Given the description of an element on the screen output the (x, y) to click on. 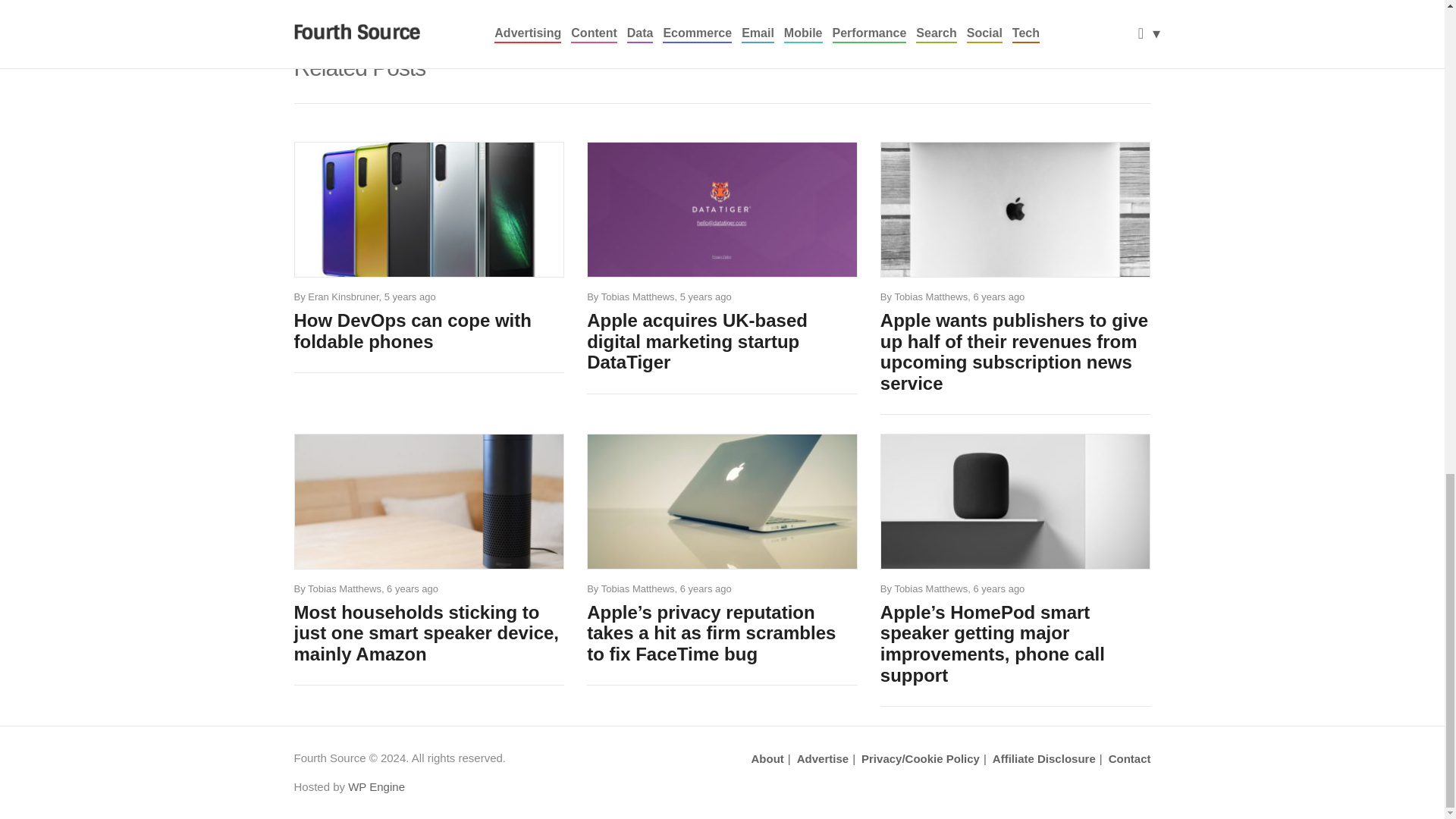
Advertise (816, 759)
About (767, 759)
Apple acquires UK-based digital marketing startup DataTiger (721, 341)
Affiliate Disclosure (1037, 759)
Contact (1123, 759)
How DevOps can cope with foldable phones (429, 331)
WP Engine (375, 786)
